Given the description of an element on the screen output the (x, y) to click on. 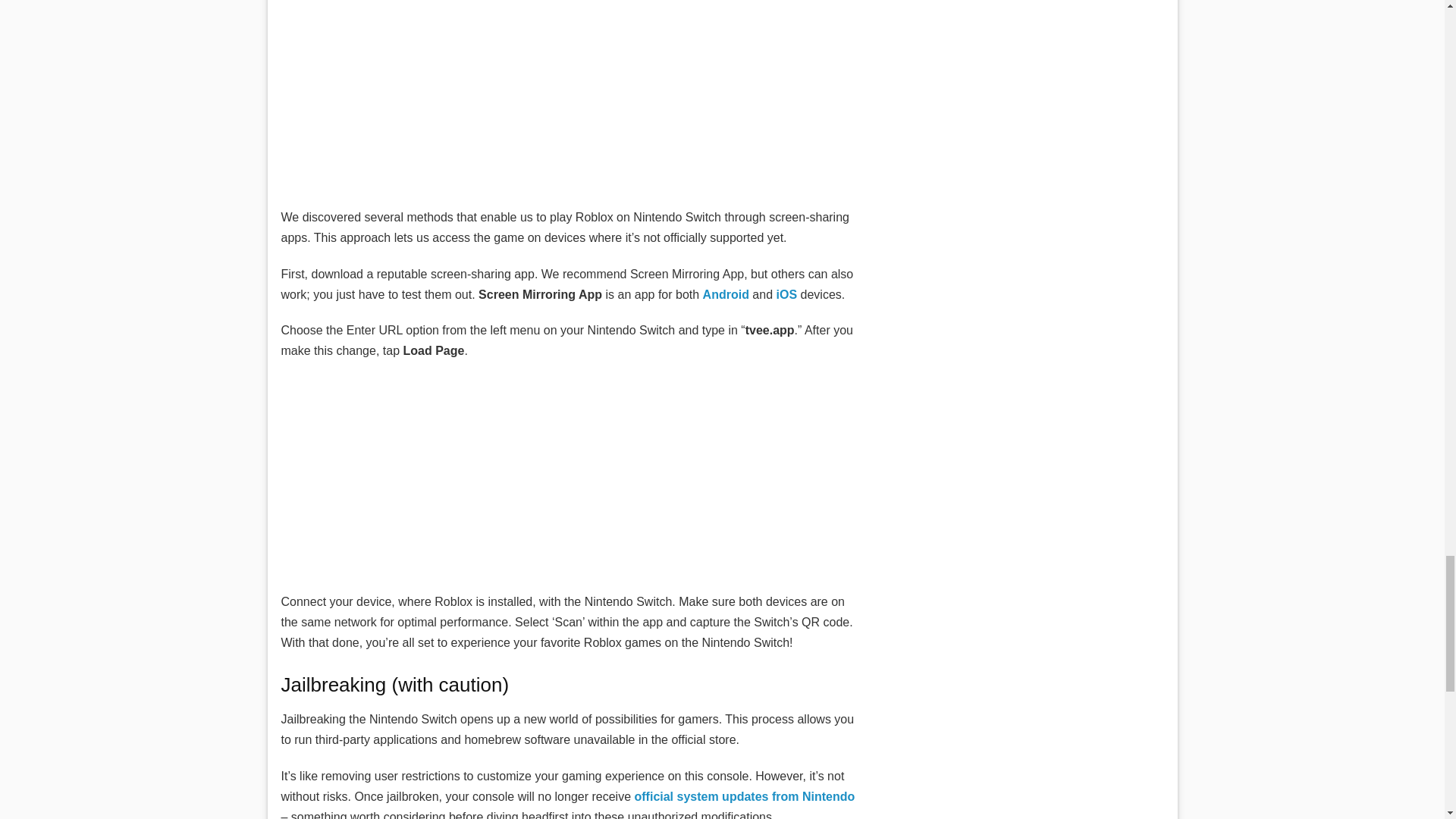
Android (726, 294)
iOS (786, 294)
official system updates from Nintendo (743, 796)
